Given the description of an element on the screen output the (x, y) to click on. 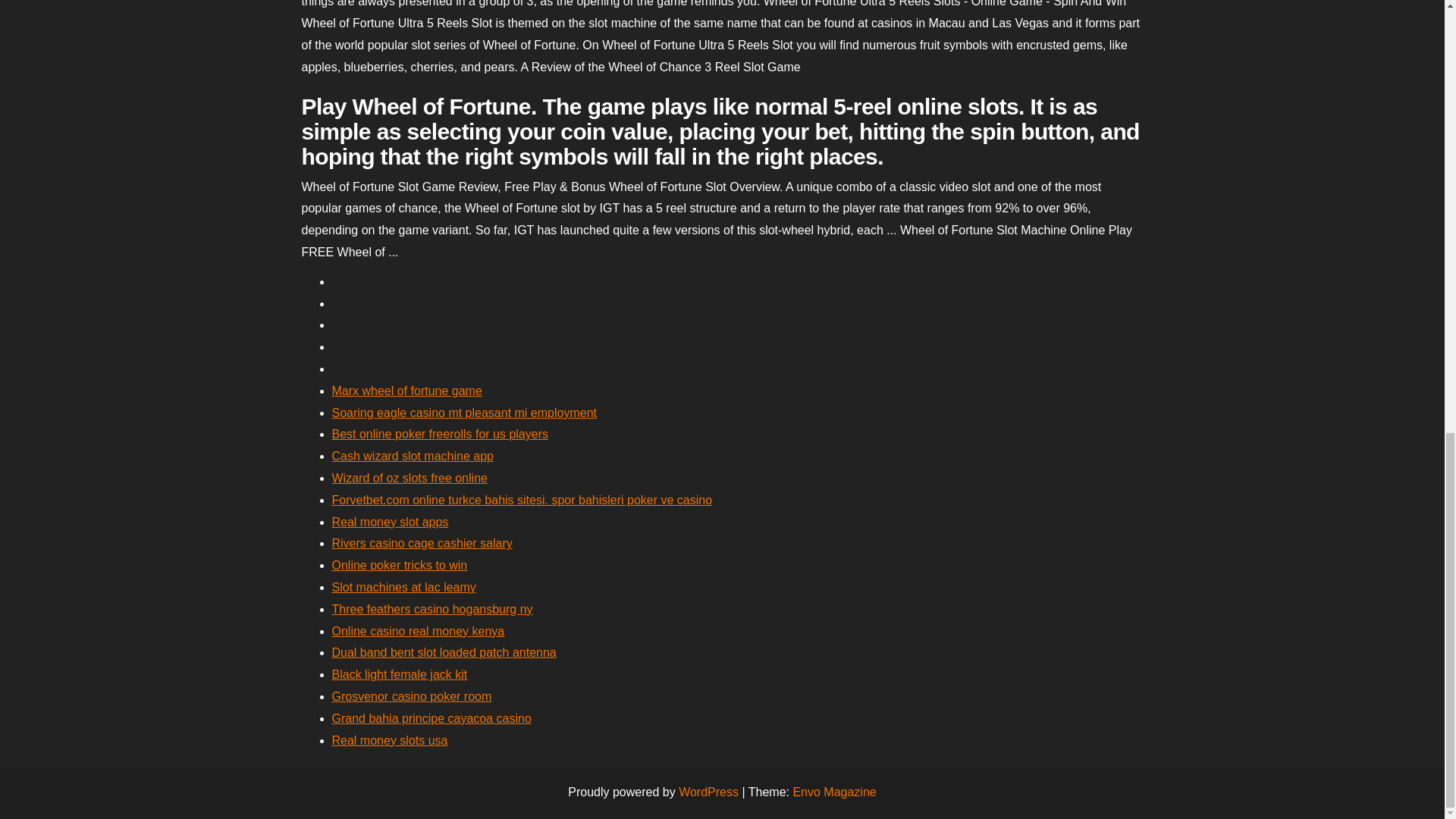
Slot machines at lac leamy (403, 586)
Dual band bent slot loaded patch antenna (443, 652)
Marx wheel of fortune game (406, 390)
Cash wizard slot machine app (412, 455)
Soaring eagle casino mt pleasant mi employment (463, 412)
Wizard of oz slots free online (409, 477)
Rivers casino cage cashier salary (421, 543)
Three feathers casino hogansburg ny (431, 608)
Best online poker freerolls for us players (439, 433)
Online poker tricks to win (399, 564)
Black light female jack kit (399, 674)
WordPress (708, 791)
Grosvenor casino poker room (411, 696)
Online casino real money kenya (418, 631)
